Given the description of an element on the screen output the (x, y) to click on. 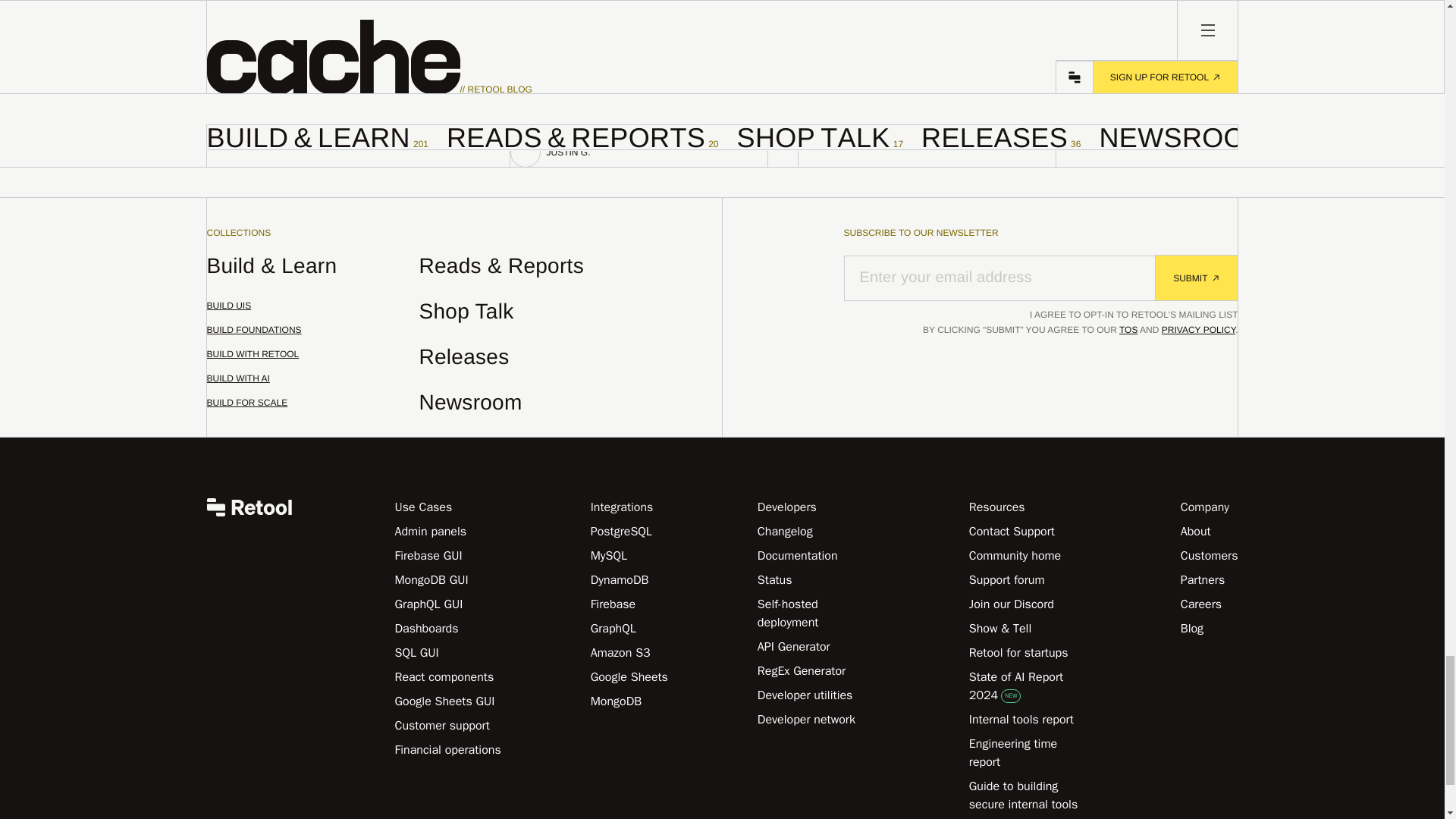
BUILD WITH RETOOL (312, 361)
BUILD WITH AI (926, 71)
BUILD UIS (312, 385)
BUILD FOUNDATIONS (312, 313)
BUILD FOR SCALE (312, 337)
